Given the description of an element on the screen output the (x, y) to click on. 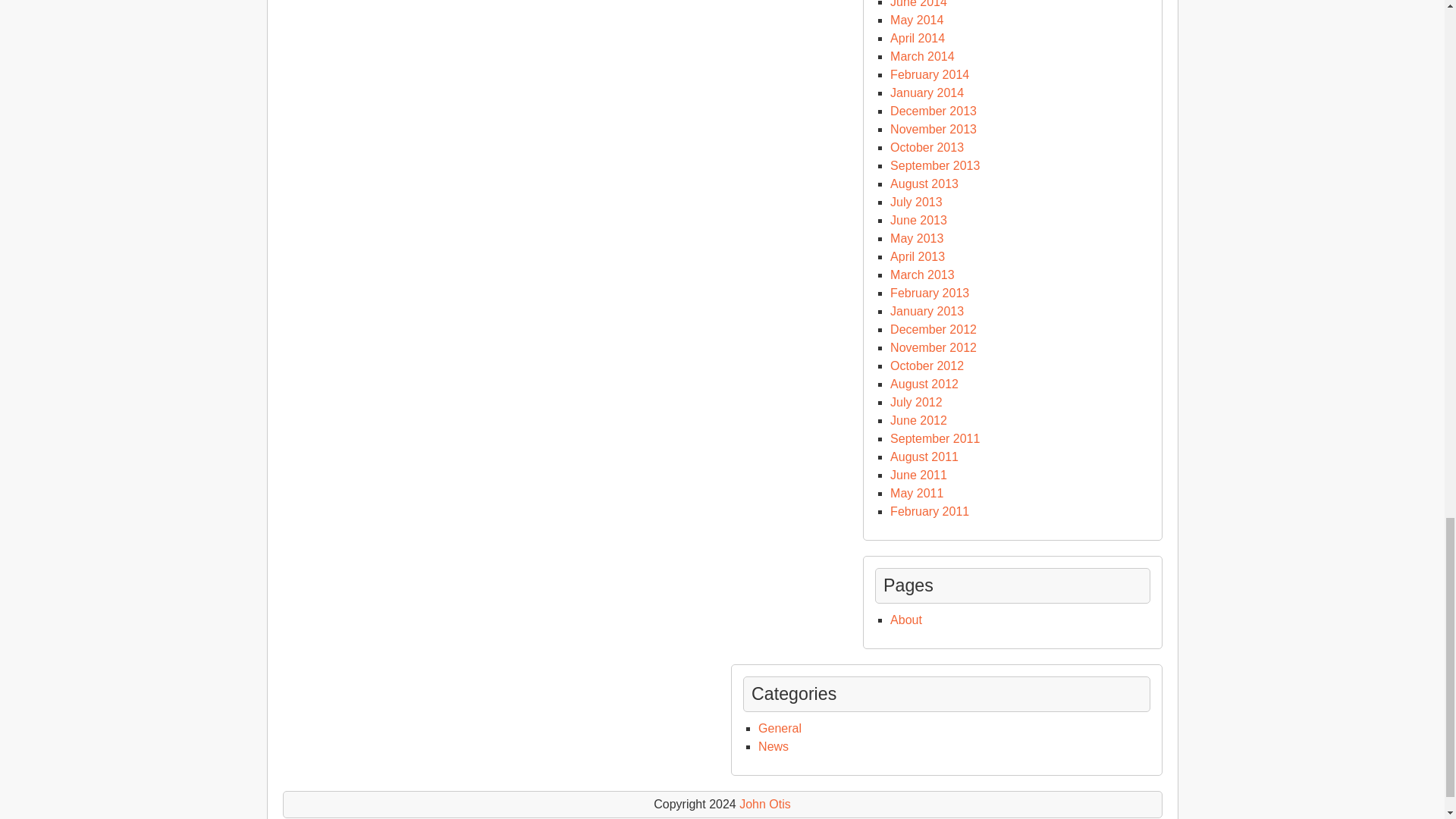
John Otis (764, 803)
